Given the description of an element on the screen output the (x, y) to click on. 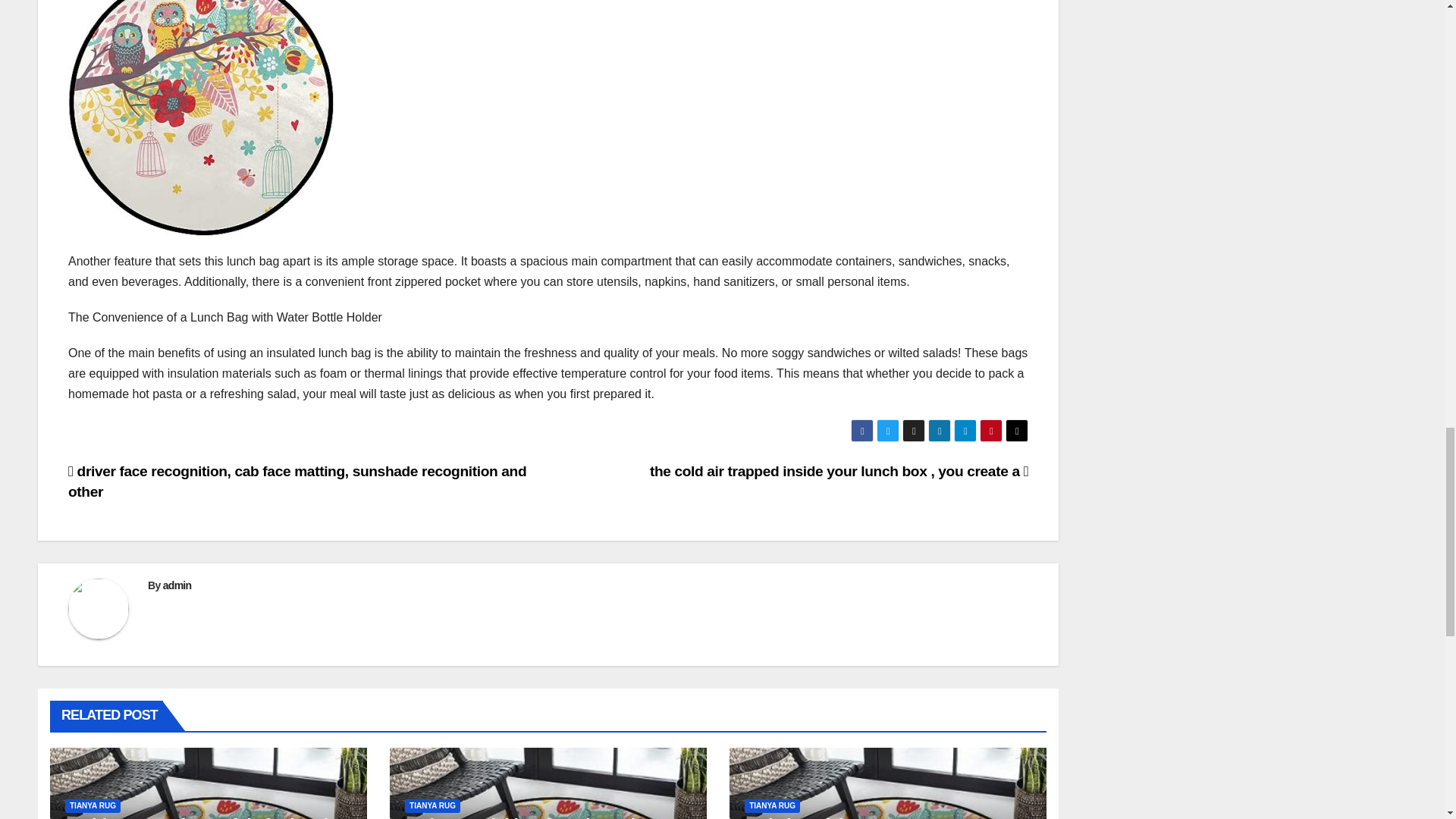
the cold air trapped inside your lunch box , you create a (838, 471)
a wide range of materials for lunch box straps, each with (199, 816)
TIANYA RUG (92, 806)
TIANYA RUG (432, 806)
admin (177, 585)
Mei Ting pick wore a straw sunshade hat. The strong (847, 816)
TIANYA RUG (771, 806)
